Given the description of an element on the screen output the (x, y) to click on. 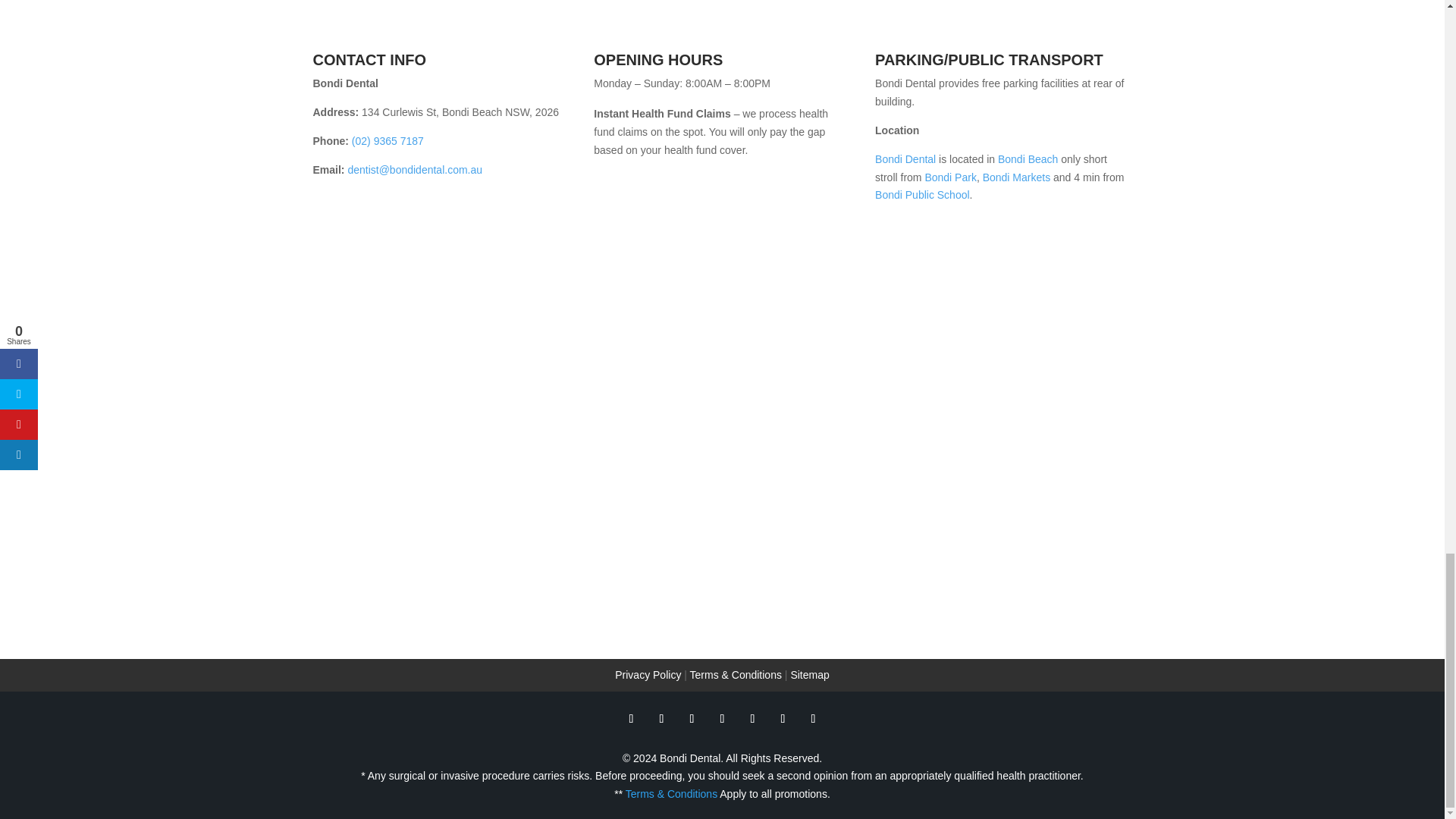
Follow on Facebook (630, 718)
Follow on Instagram (812, 718)
Follow on Google (691, 718)
Privacy Policy (647, 674)
Follow on Youtube (721, 718)
Follow on Pinterest (751, 718)
Follow on LinkedIn (782, 718)
Follow on X (660, 718)
